Given the description of an element on the screen output the (x, y) to click on. 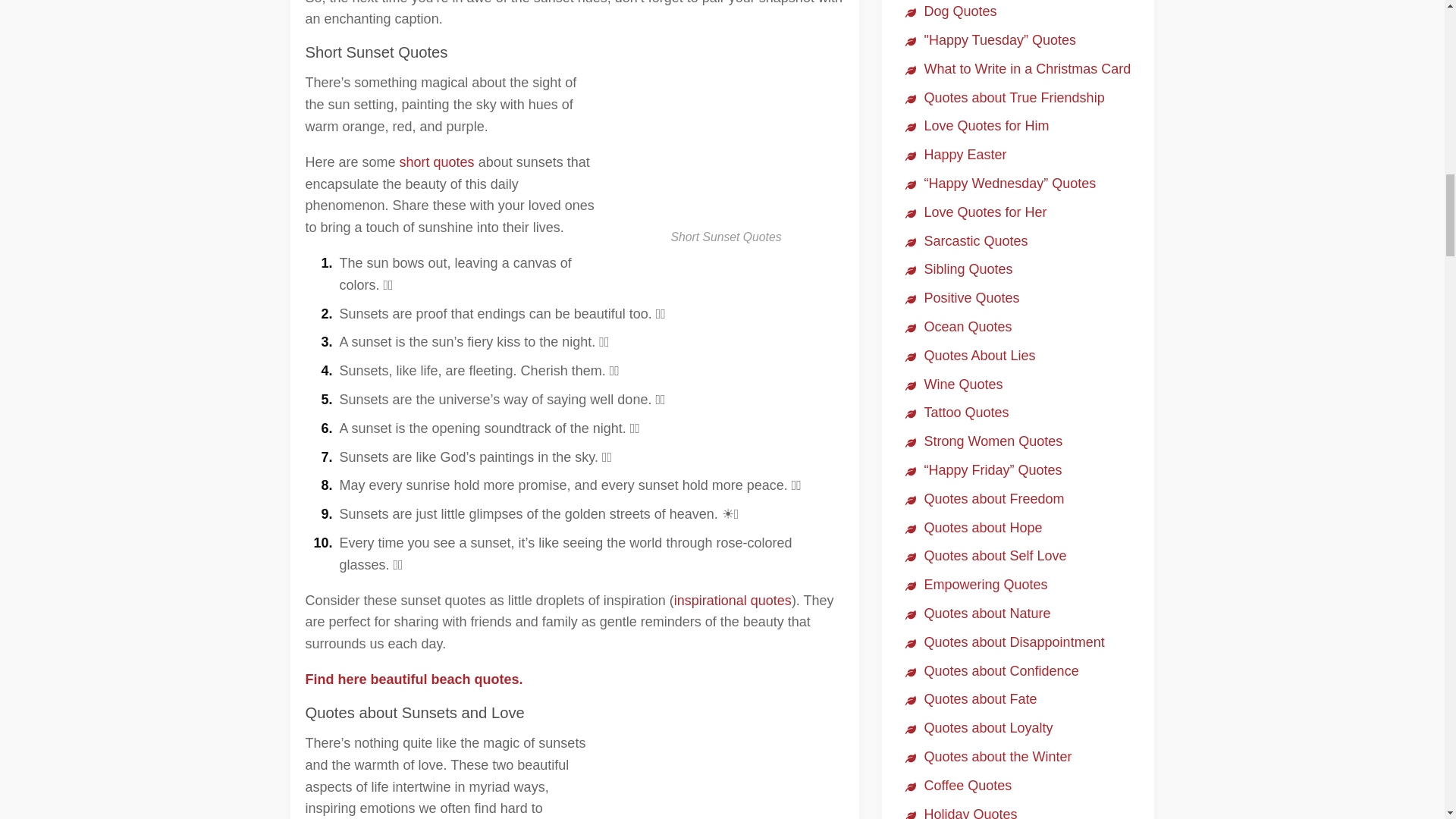
short quotes (436, 161)
inspirational quotes (733, 600)
Find here beautiful beach quotes. (413, 679)
